Given the description of an element on the screen output the (x, y) to click on. 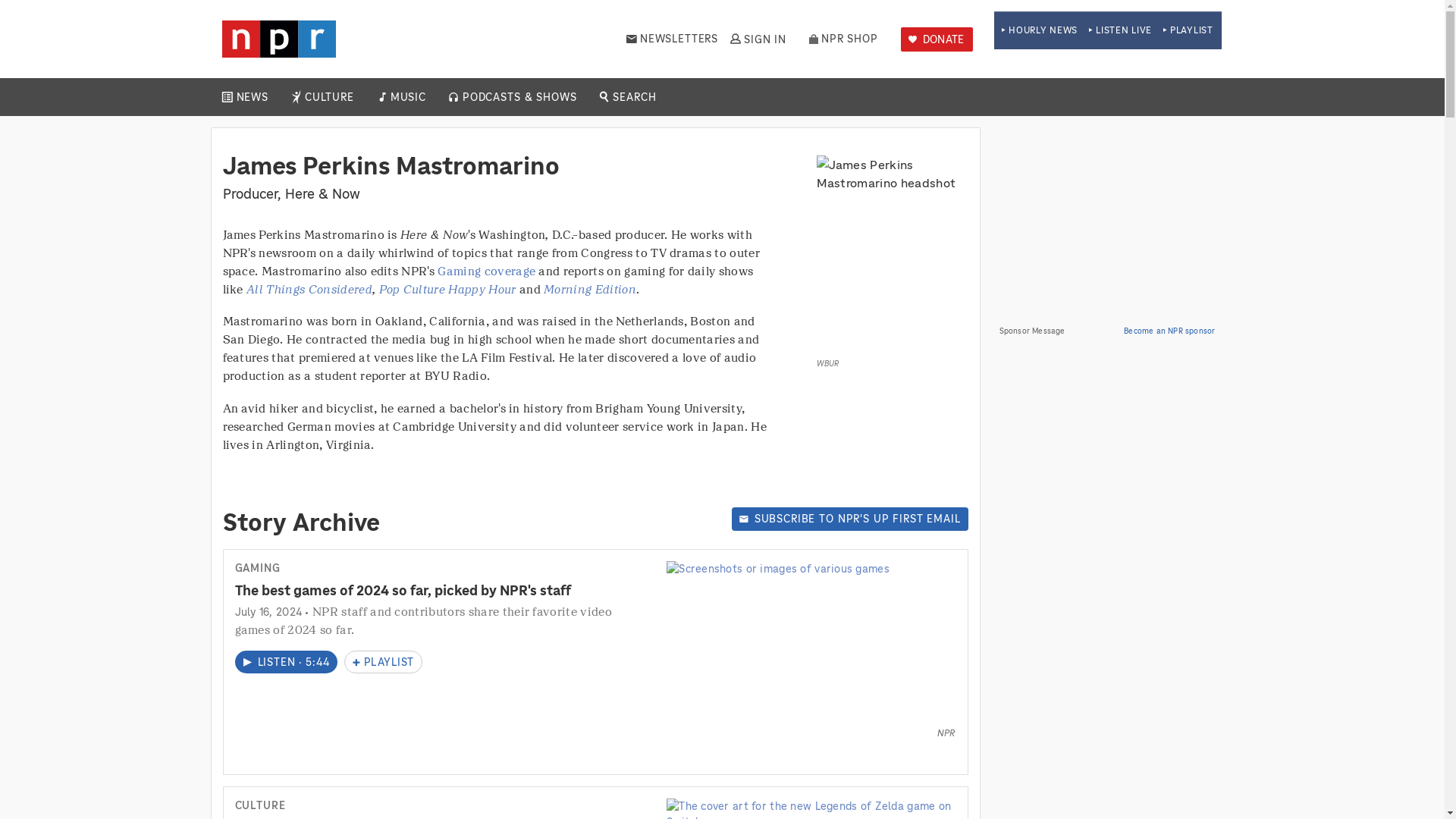
SIGN IN (757, 38)
NEWSLETTERS (671, 38)
PLAYLIST (1187, 30)
LISTEN LIVE (1120, 30)
CULTURE (328, 96)
MUSIC (407, 96)
DONATE (936, 39)
HOURLY NEWS (1039, 30)
NEWS (251, 96)
NPR SHOP (843, 38)
